Given the description of an element on the screen output the (x, y) to click on. 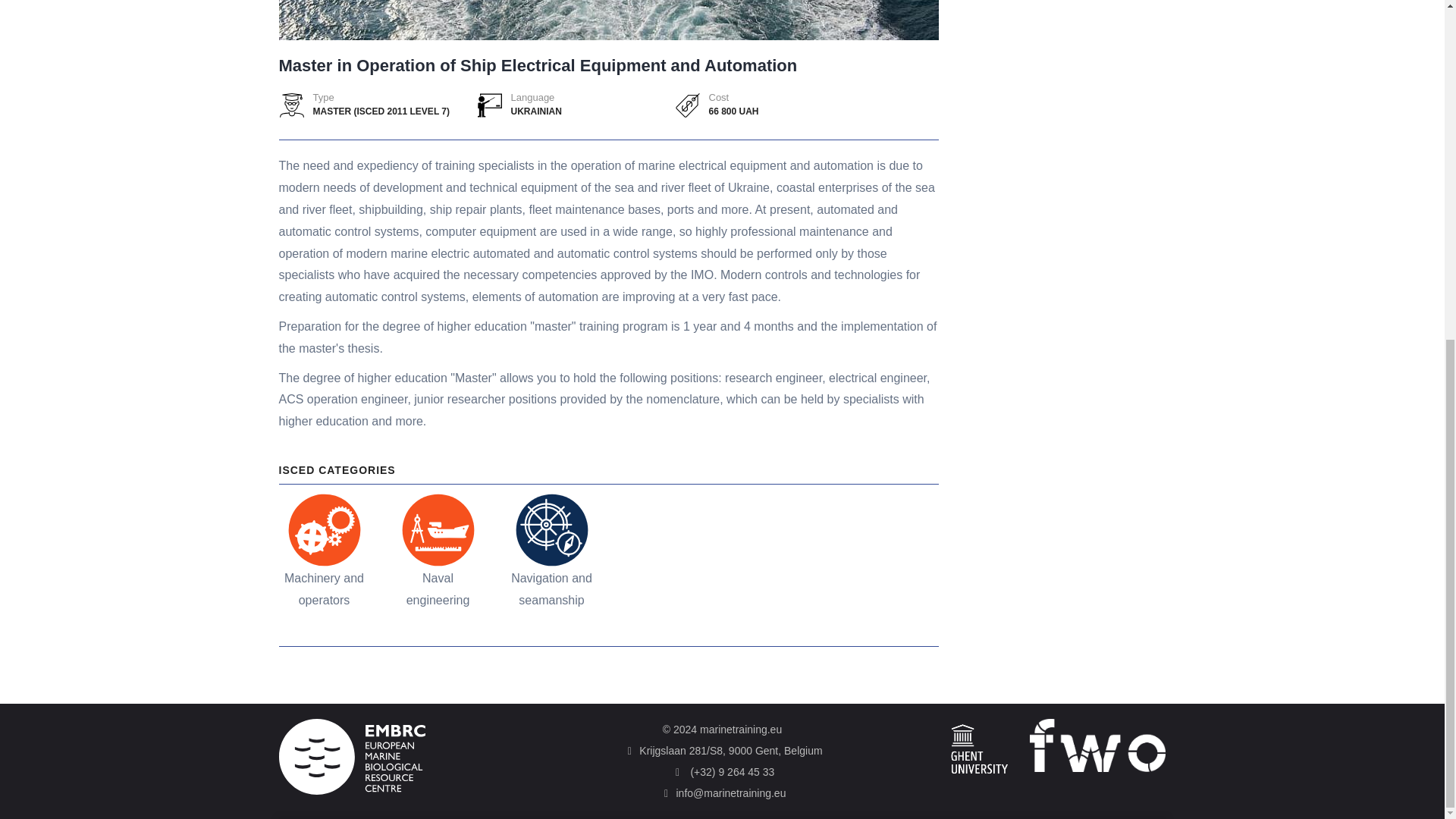
marinetraining.eu (740, 729)
